Given the description of an element on the screen output the (x, y) to click on. 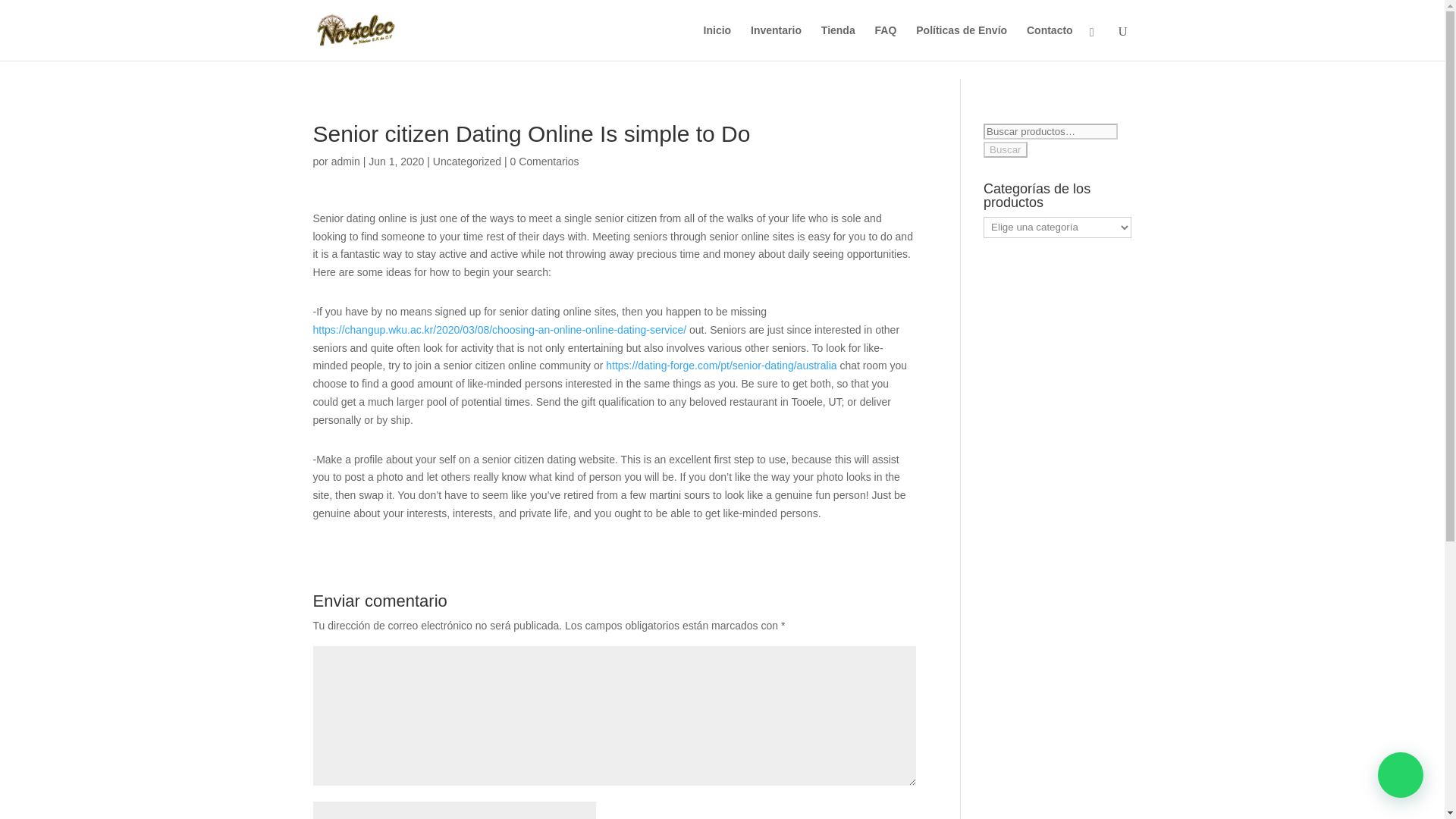
Buscar (1005, 149)
Buscar (1005, 149)
Mensajes de admin (345, 161)
Contacto (1049, 42)
Buscar por: (1051, 131)
Inventario (776, 42)
Tienda (838, 42)
admin (345, 161)
Uncategorized (466, 161)
0 Comentarios (543, 161)
